Given the description of an element on the screen output the (x, y) to click on. 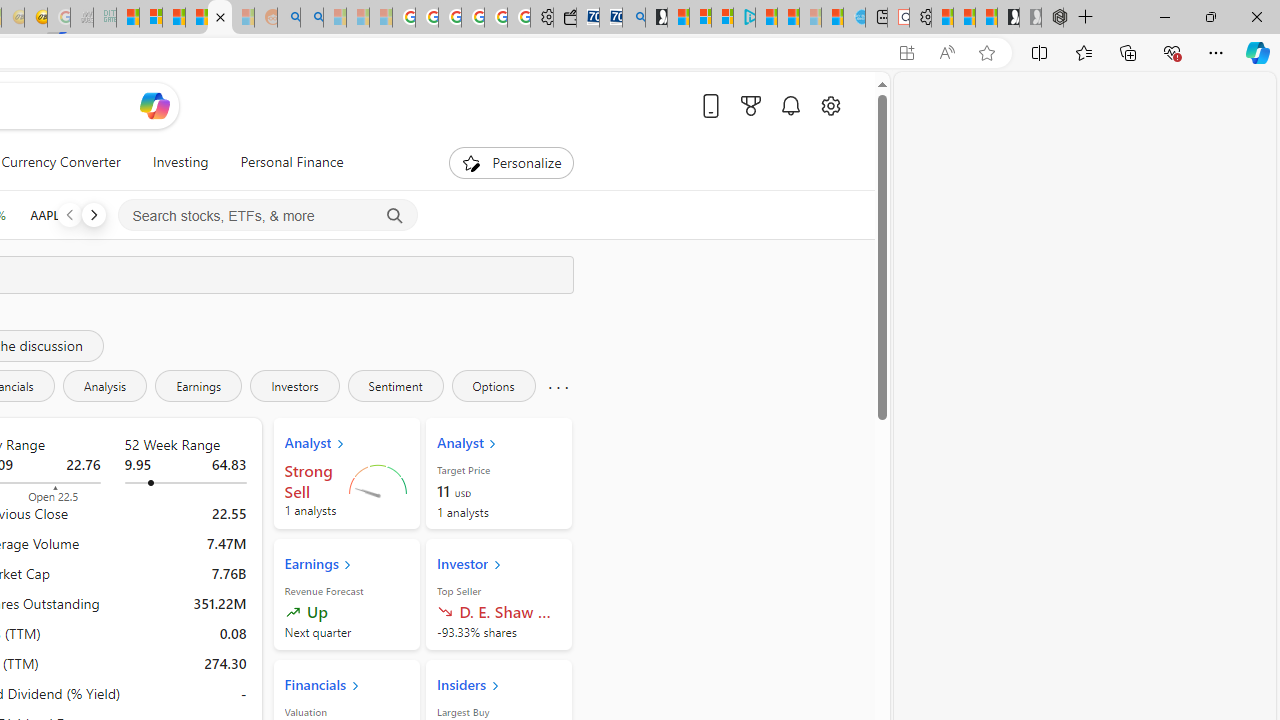
Investing (180, 162)
Sentiment (395, 385)
Previous (69, 214)
